Given the description of an element on the screen output the (x, y) to click on. 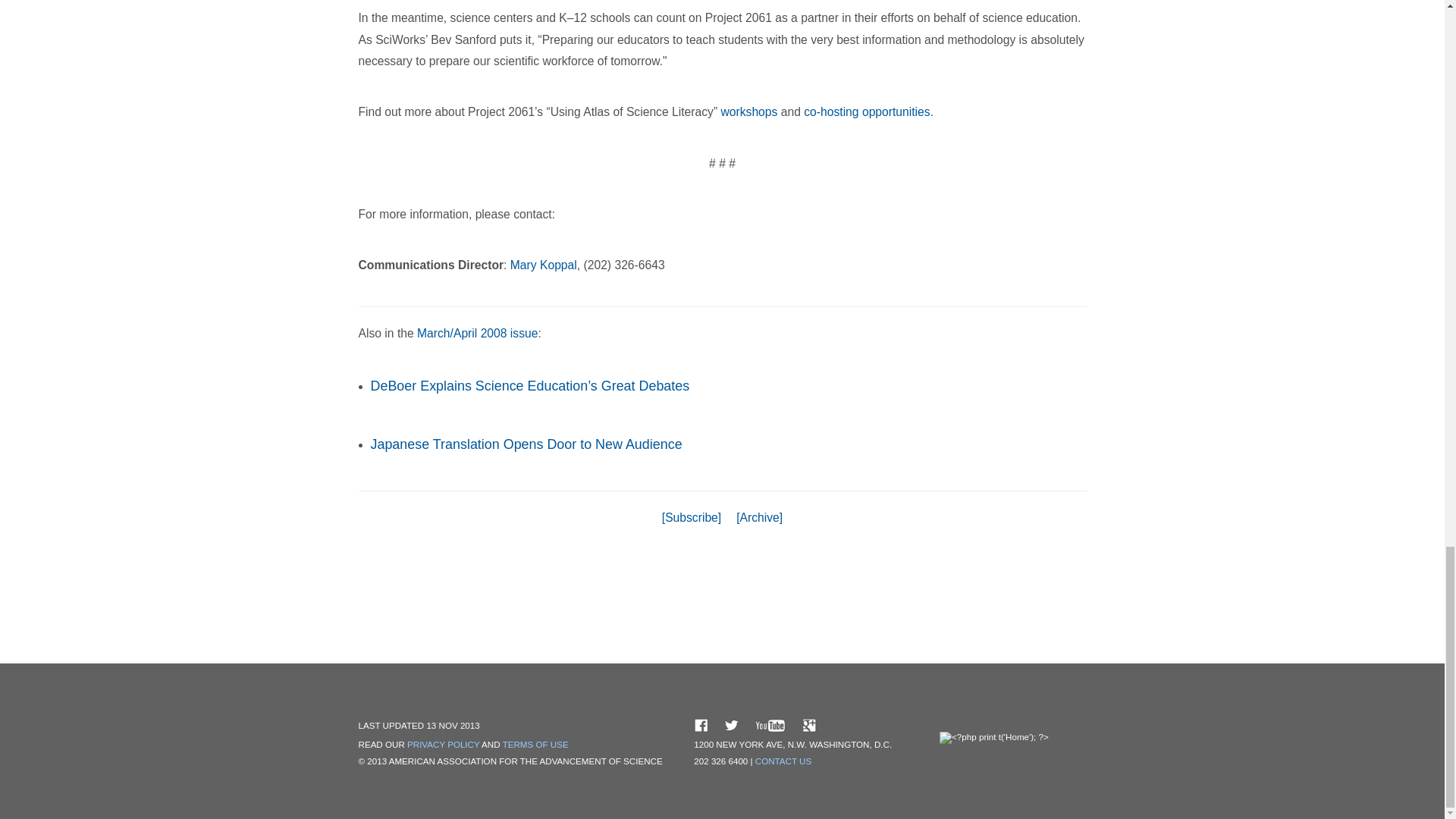
workshops (748, 111)
Privacy Policy (443, 744)
Mary Koppal (543, 264)
Connect with us on YouTube (770, 724)
co-hosting opportunities (866, 111)
Terms of Use (535, 744)
Connect with us on Twitter (731, 724)
Connect with us on Facebook (701, 724)
